Given the description of an element on the screen output the (x, y) to click on. 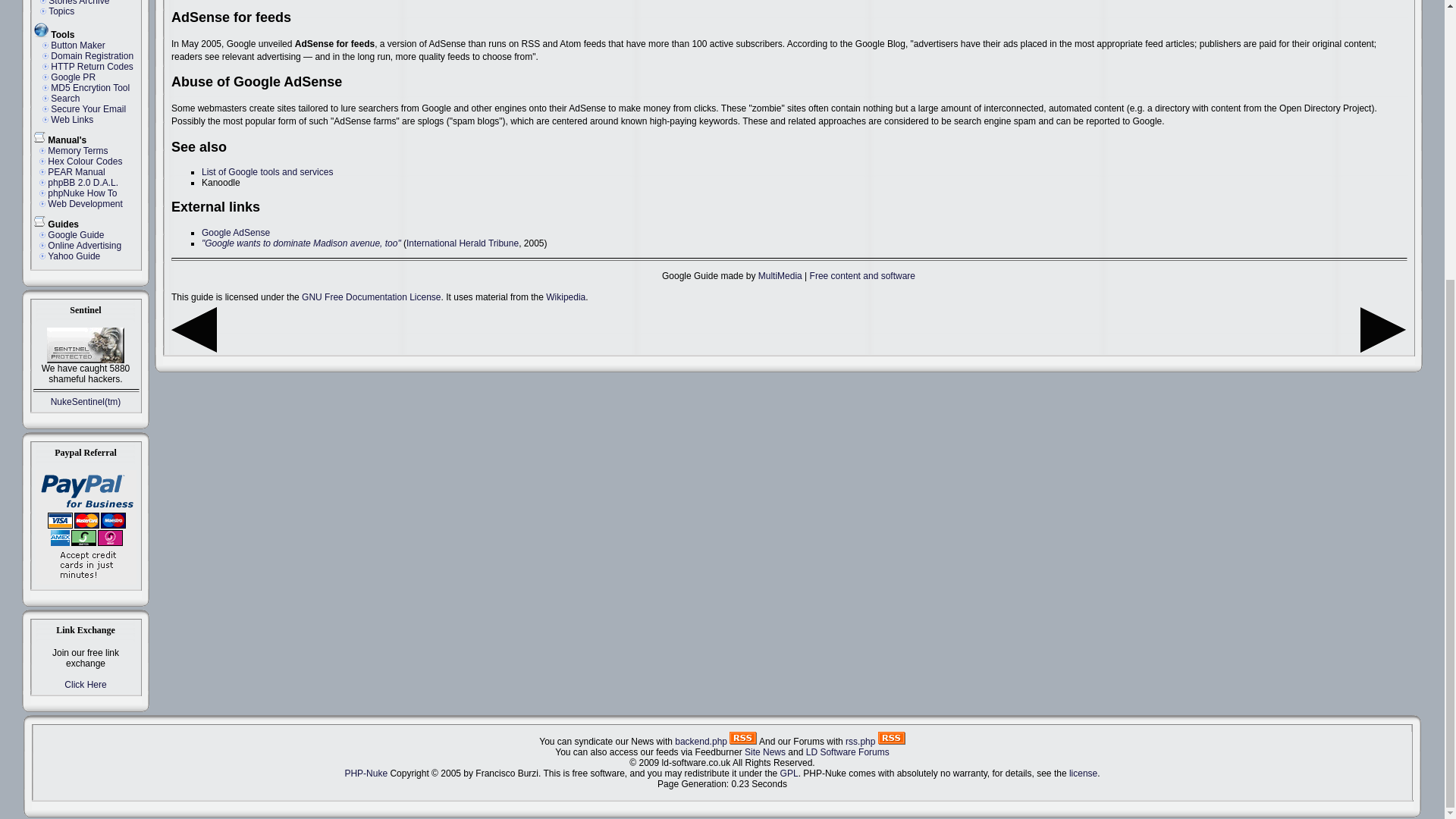
You have been warned! (84, 345)
Click Here (85, 684)
MD5 Encrytion Tool (89, 87)
Button Maker (77, 45)
Stories Archive (78, 2)
Google PR (73, 77)
Online Advertising (84, 245)
NEXT (1382, 348)
phpBB 2.0 D.A.L. (82, 182)
Yahoo Guide (74, 255)
Google Guide (75, 235)
Domain Registration (91, 55)
Secure Your Email (87, 109)
Hex Colour Codes (85, 161)
International Herald Tribune (462, 243)
